Given the description of an element on the screen output the (x, y) to click on. 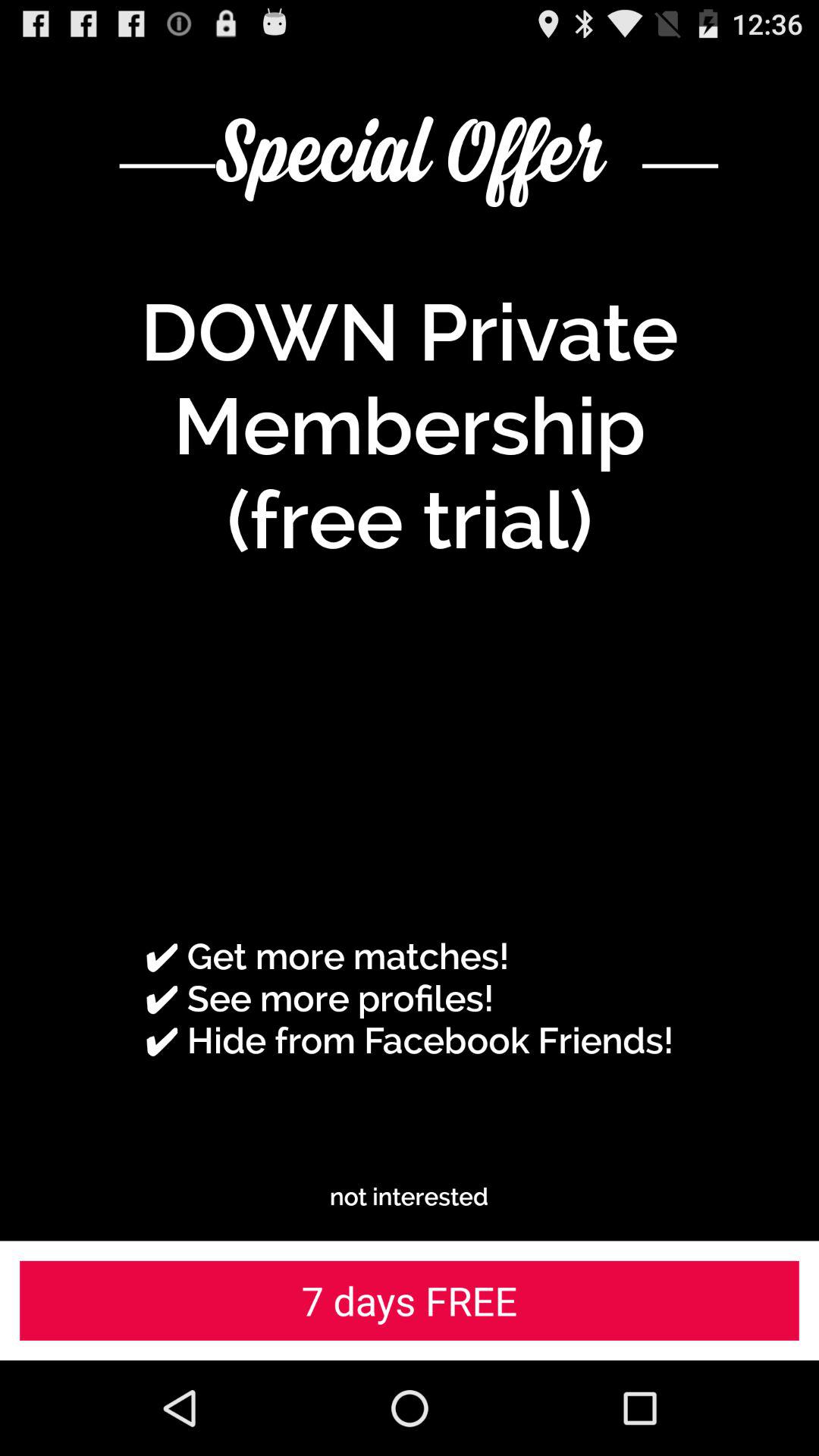
choose the icon above 7 days free (408, 1196)
